Given the description of an element on the screen output the (x, y) to click on. 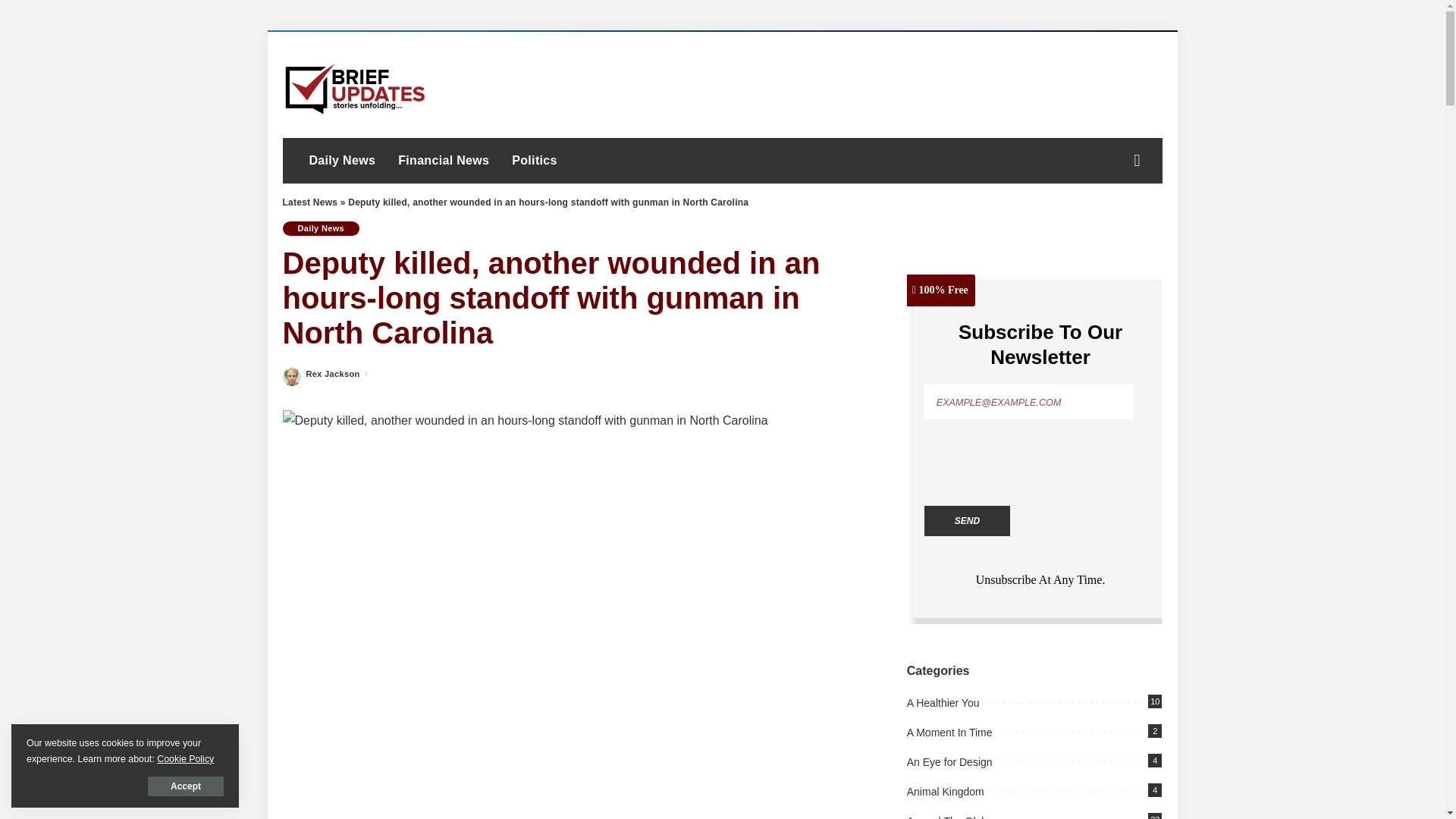
Brief Updates (355, 84)
Rex Jackson (332, 374)
Politics (533, 160)
Daily News (342, 160)
Financial News (443, 160)
Latest News (309, 202)
Send (967, 521)
Daily News (320, 228)
